Given the description of an element on the screen output the (x, y) to click on. 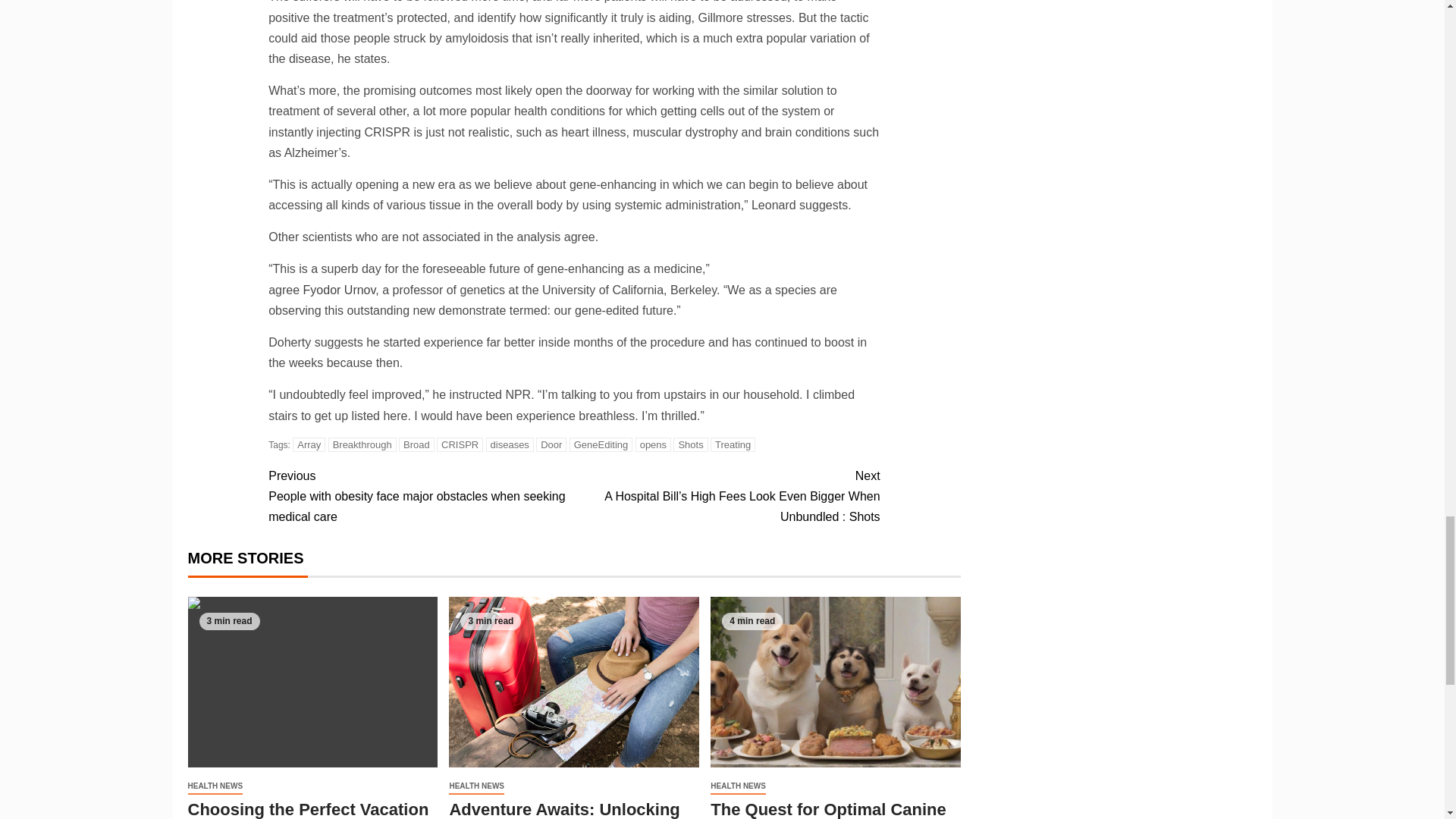
Array (308, 444)
Choosing the Perfect Vacation Home for Your Next Getaway (312, 682)
Breakthrough (362, 444)
Adventure Awaits: Unlocking the Power of Travel Insurance (573, 682)
diseases (510, 444)
Fyodor Urnov (338, 289)
CRISPR (459, 444)
Broad (415, 444)
